Given the description of an element on the screen output the (x, y) to click on. 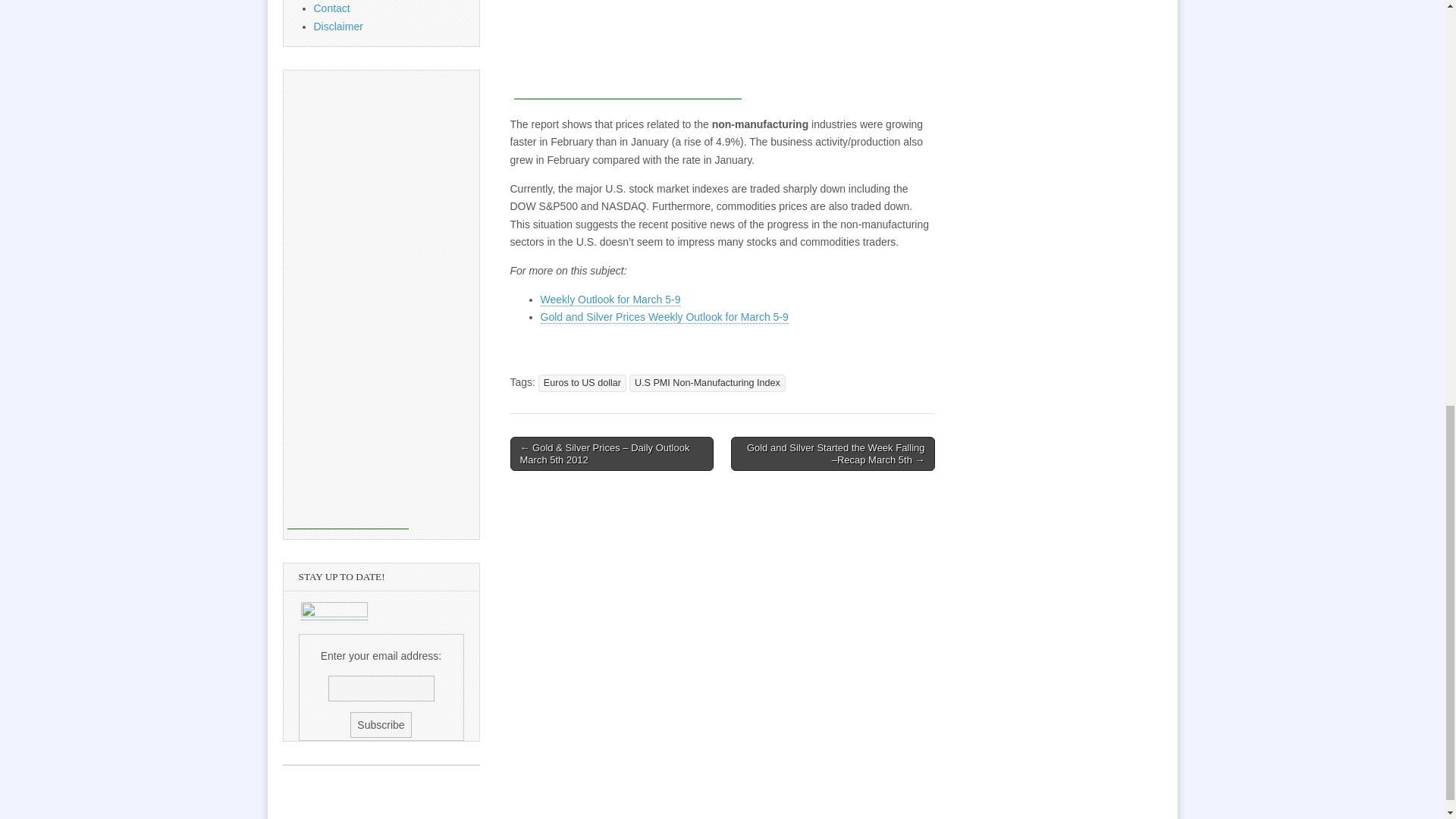
Disclaimer (338, 26)
Contact (332, 8)
Gold and Silver Prices Weekly Outlook for March 5-9 (663, 317)
Weekly Outlook for March 5-9 (609, 299)
Subscribe (380, 724)
U.S PMI Non-Manufacturing Index (707, 383)
Subscribe (380, 724)
Euros to US dollar (582, 383)
